Given the description of an element on the screen output the (x, y) to click on. 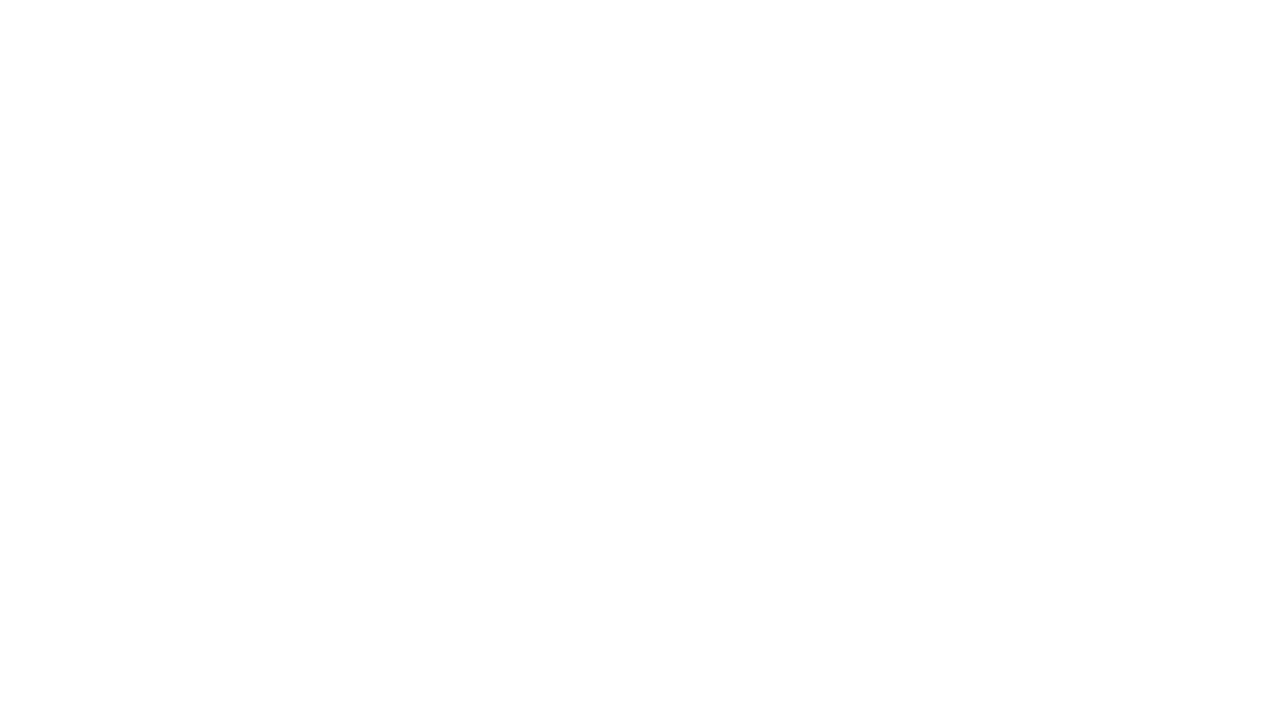
Microsoft account | Privacy (937, 17)
New tab (793, 17)
Enter Immersive Reader (F9) (991, 53)
Amazon Echo Dot PNG - Search Images (90, 17)
Close (1256, 16)
Settings and more (Alt+F) (1215, 52)
Nordace - Nordace has arrived Hong Kong (682, 17)
All Cubot phones (497, 17)
amazon - Search - Sleeping (53, 17)
Add this page to favorites (Ctrl+D) (1030, 53)
Expand All (610, 170)
Microsoft account | Microsoft Account Privacy Settings (865, 17)
Microsoft Start (973, 17)
